Given the description of an element on the screen output the (x, y) to click on. 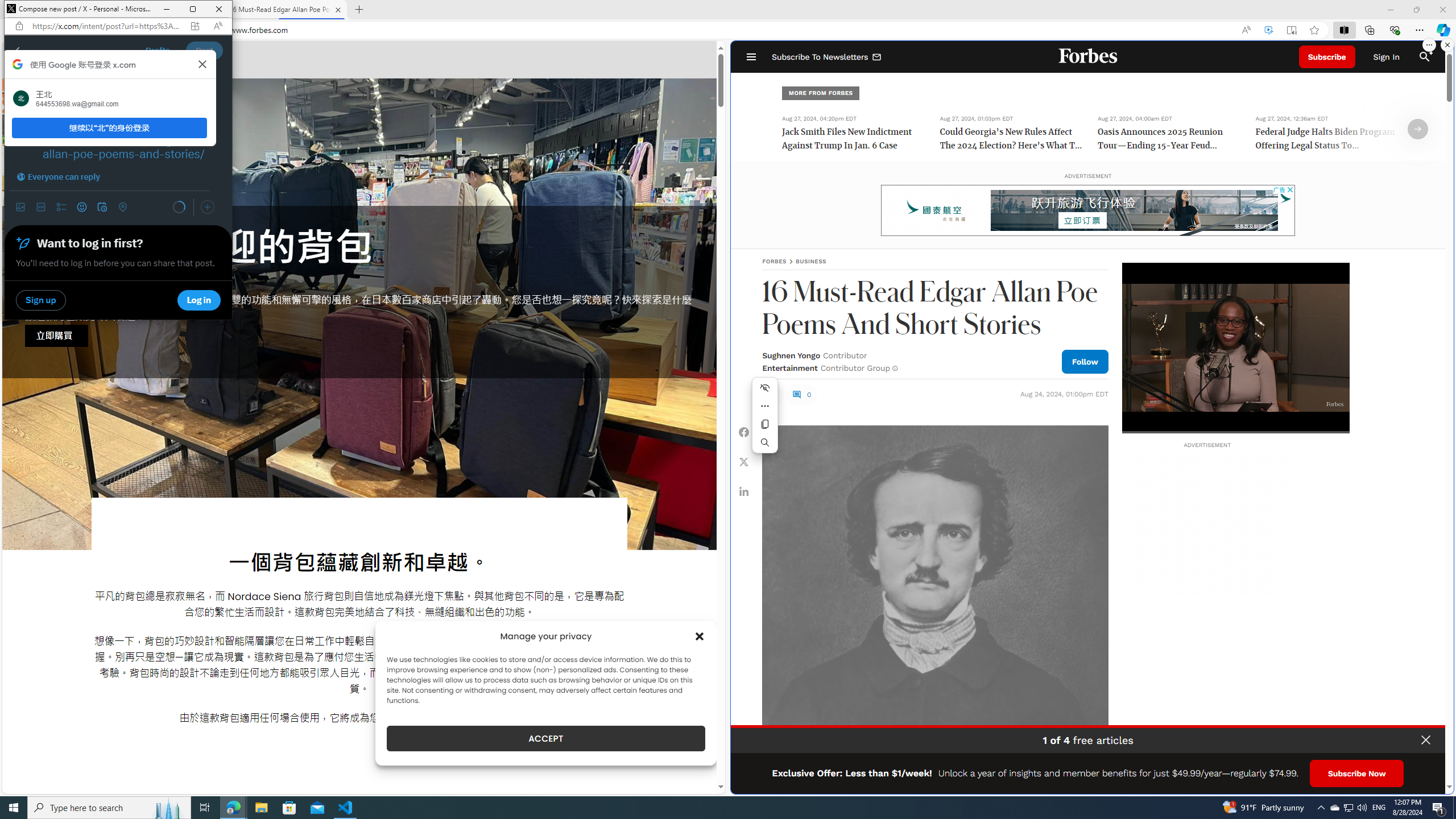
Jack Smith Files New Indictment Against Trump In Jan. 6 Case (853, 139)
Class: fs-icon fs-icon--linkedin (743, 490)
Class: search_svg__fs-icon search_svg__fs-icon--search (1424, 56)
Class: Bz112c Bz112c-r9oPif (202, 64)
Portrait of Edgar Allan Poe. (934, 598)
Class: close-button unbutton (1425, 740)
Search highlights icon opens search home window (167, 807)
Running applications (706, 807)
Mini menu on text selection (764, 414)
